Given the description of an element on the screen output the (x, y) to click on. 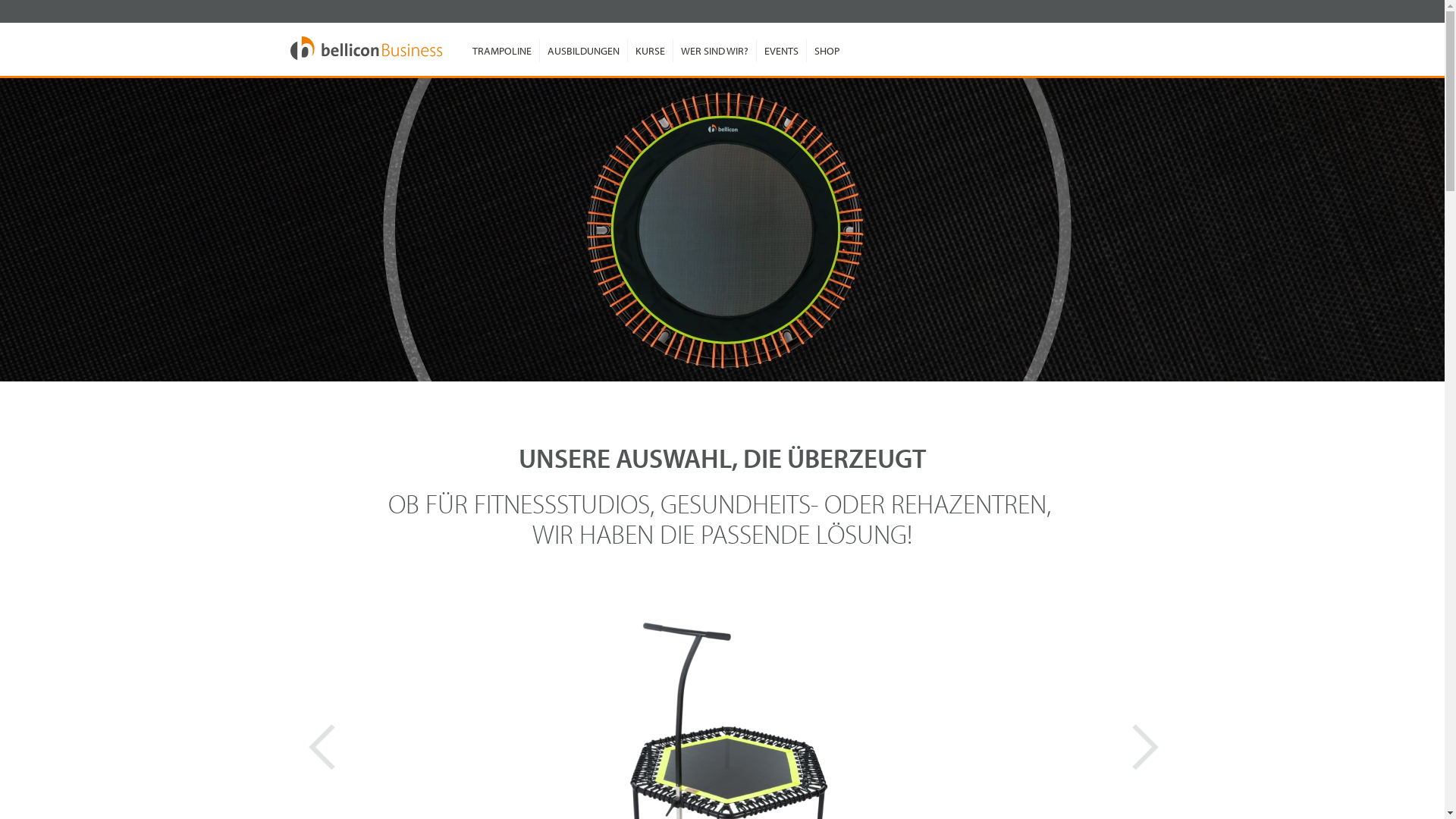
KURSE Element type: text (648, 50)
AUSBILDUNGEN Element type: text (582, 50)
WER SIND WIR? Element type: text (713, 50)
TRAMPOLINE Element type: text (501, 50)
EVENTS Element type: text (780, 50)
SHOP Element type: text (825, 50)
bellicon.business Element type: hover (365, 47)
